Given the description of an element on the screen output the (x, y) to click on. 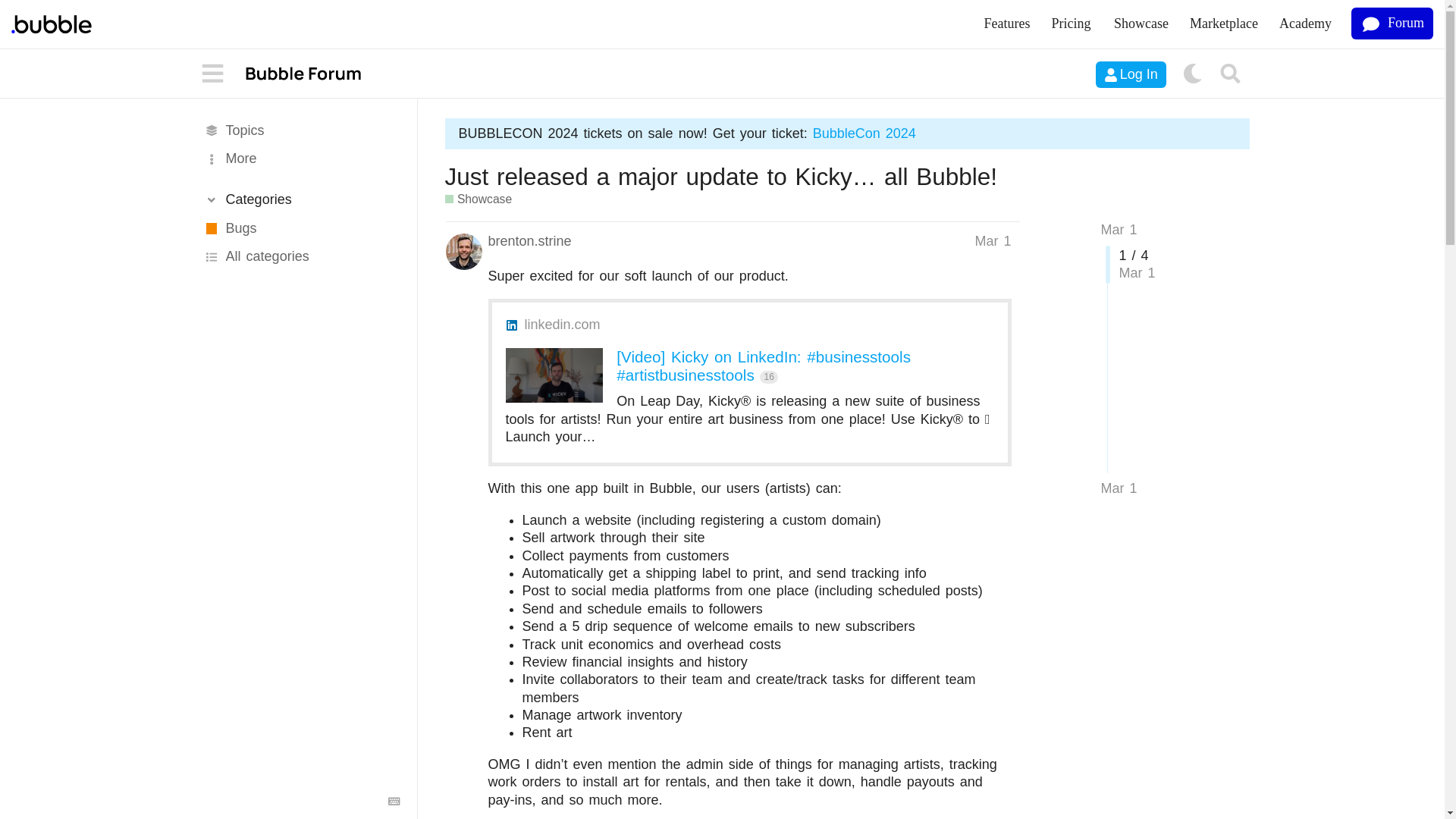
Categories (300, 199)
BubbleCon 2024 (863, 133)
More (300, 158)
Forum (1391, 23)
Mar 1 (1118, 488)
Showcase (478, 199)
Pricing (1071, 24)
Log In (1131, 74)
Keyboard Shortcuts (394, 801)
Jump to the last post (1118, 488)
Topics (300, 130)
Marketplace (1223, 24)
Post date (992, 240)
Search (1230, 73)
Mar 1 (1118, 229)
